Given the description of an element on the screen output the (x, y) to click on. 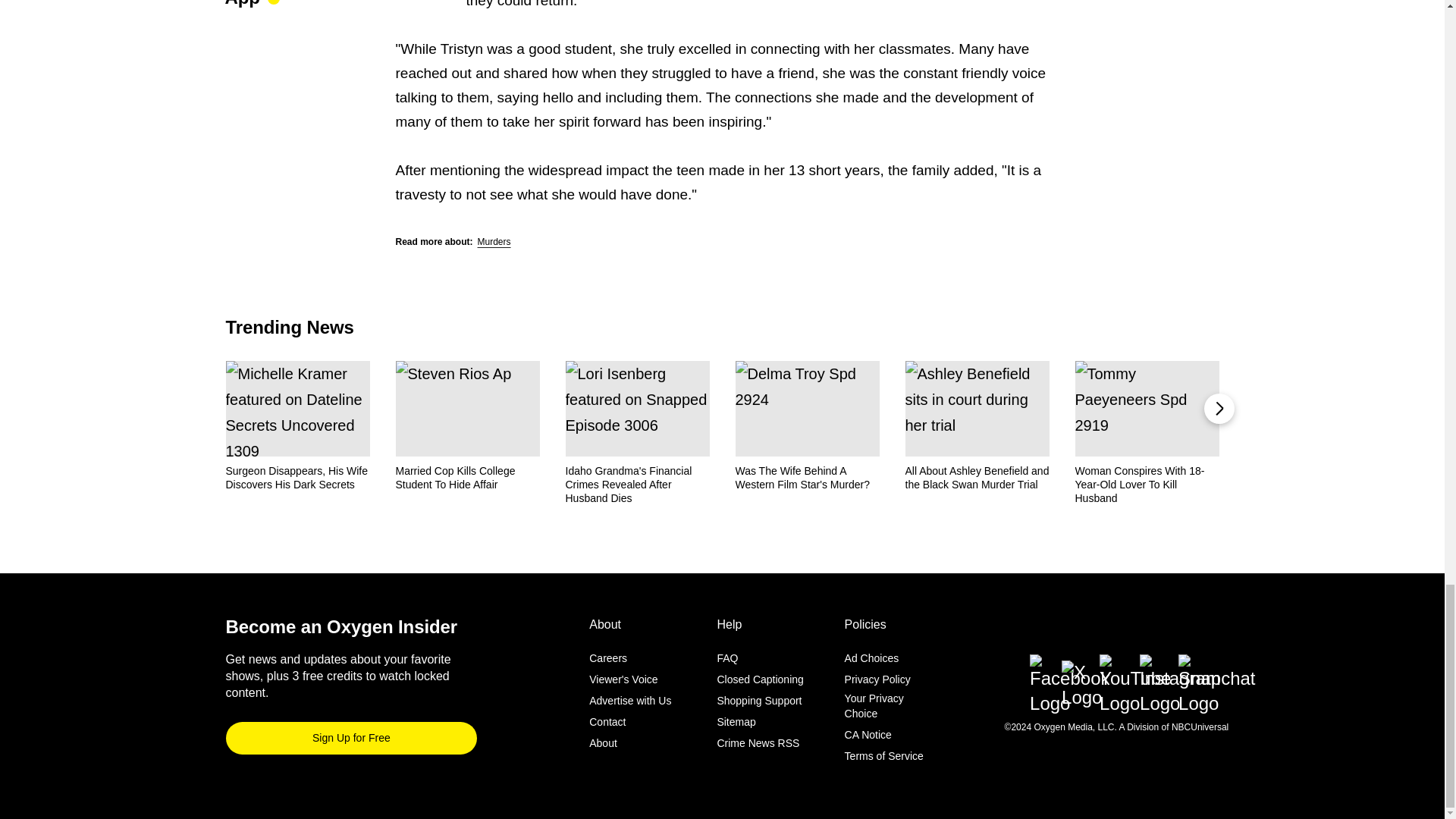
Married Cop Kills College Student To Hide Affair (468, 477)
Surgeon Disappears, His Wife Discovers His Dark Secrets (297, 477)
Advertise with Us (630, 700)
Murders (494, 241)
